Given the description of an element on the screen output the (x, y) to click on. 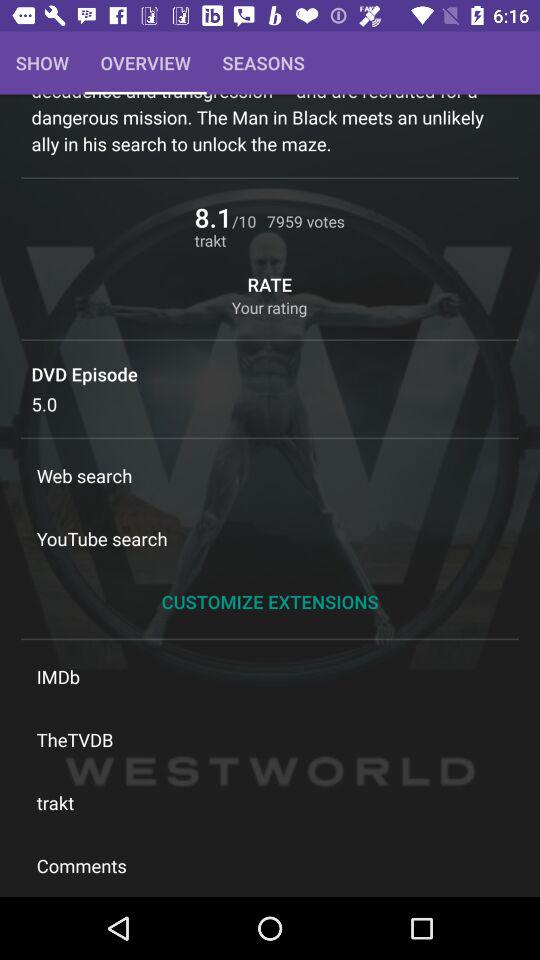
launch the item below trakt (270, 865)
